Given the description of an element on the screen output the (x, y) to click on. 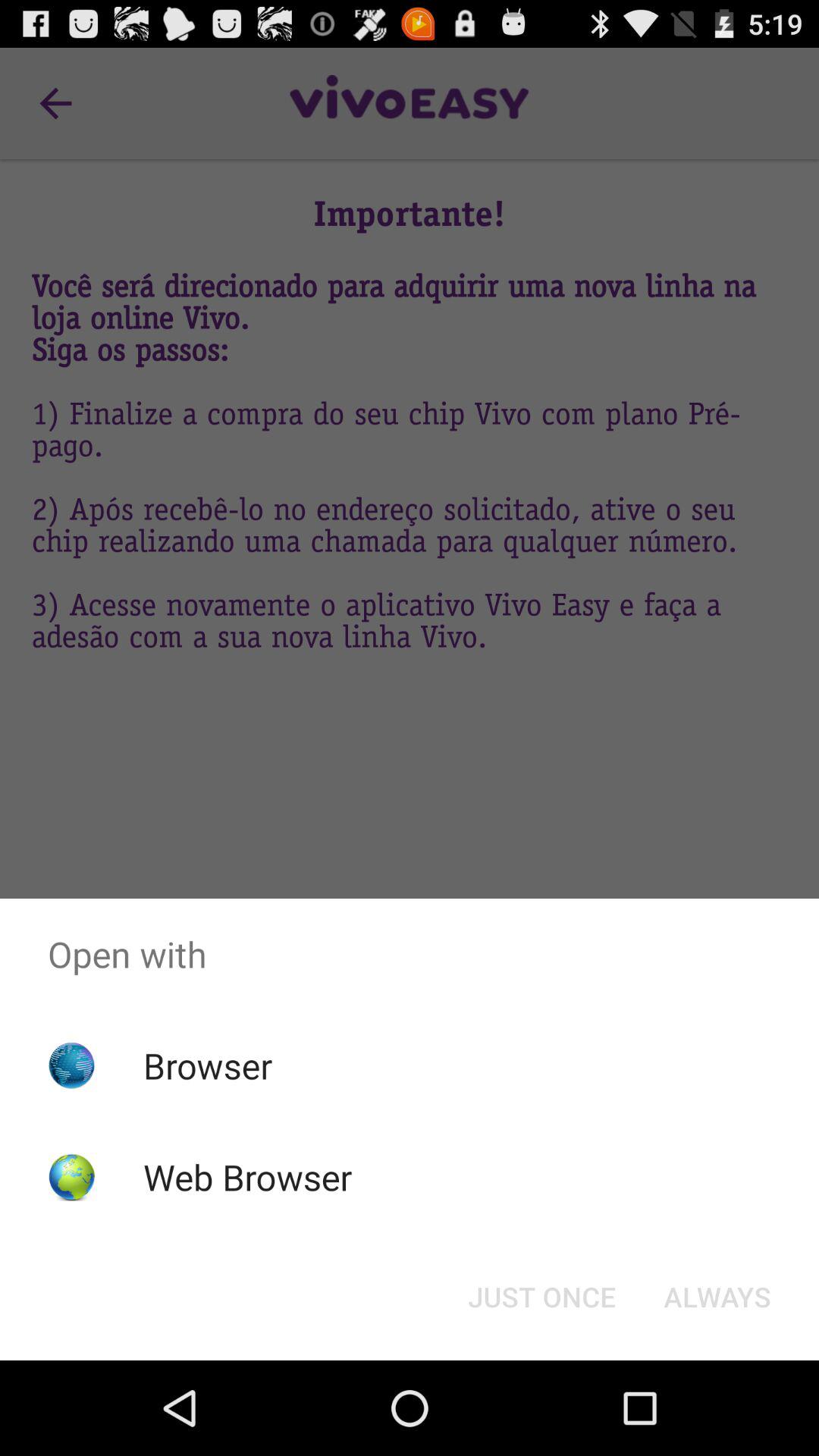
select the app below open with app (541, 1296)
